Given the description of an element on the screen output the (x, y) to click on. 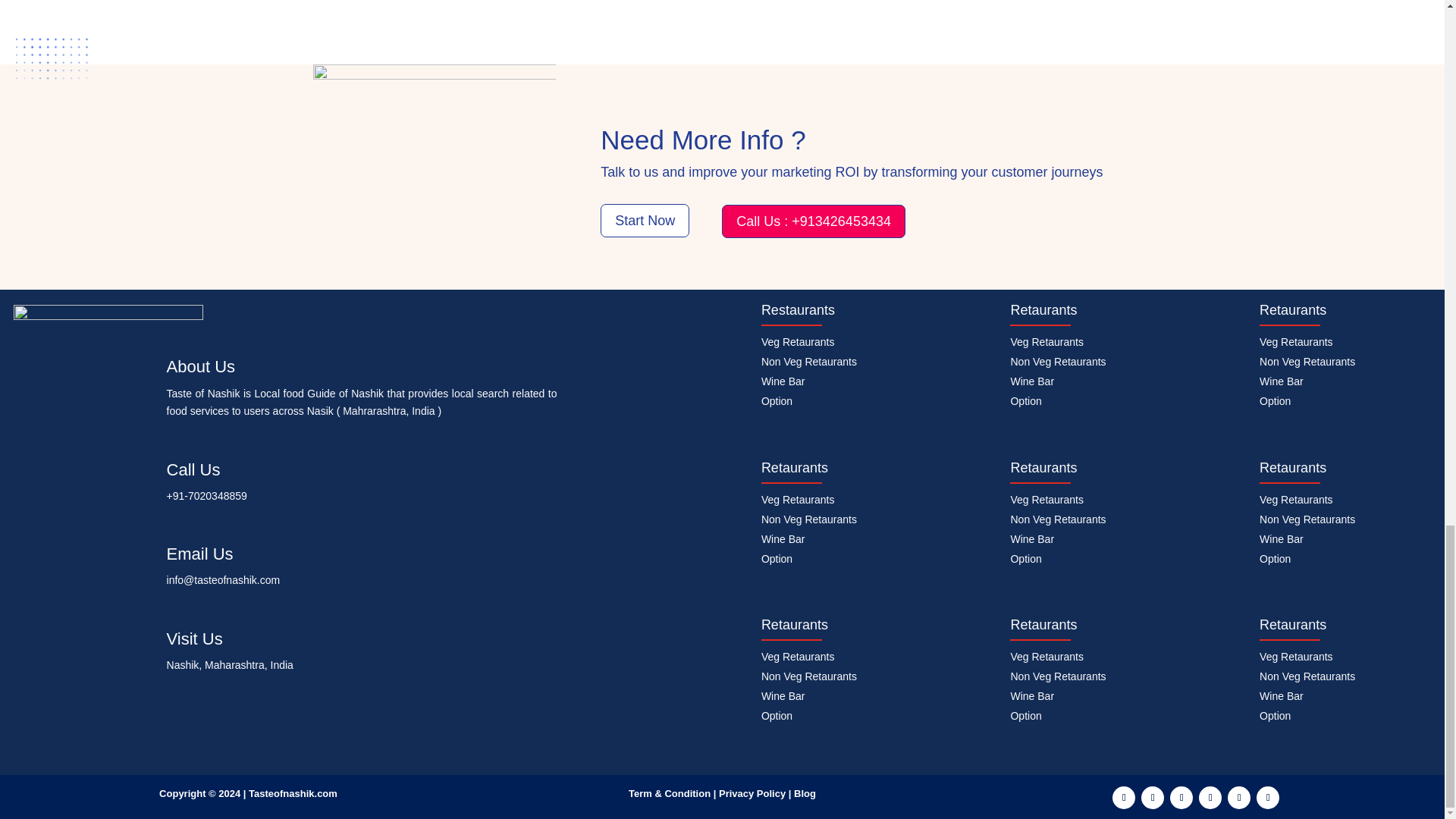
Wine Bar (783, 695)
Follow on Facebook (1123, 797)
Follow on LinkedIn (1181, 797)
Wine Bar (783, 539)
Wine Bar (1032, 539)
Option (776, 400)
Non Veg Retaurants (809, 676)
Option (776, 715)
Follow on Pinterest (1238, 797)
Veg Retaurants (797, 341)
